Given the description of an element on the screen output the (x, y) to click on. 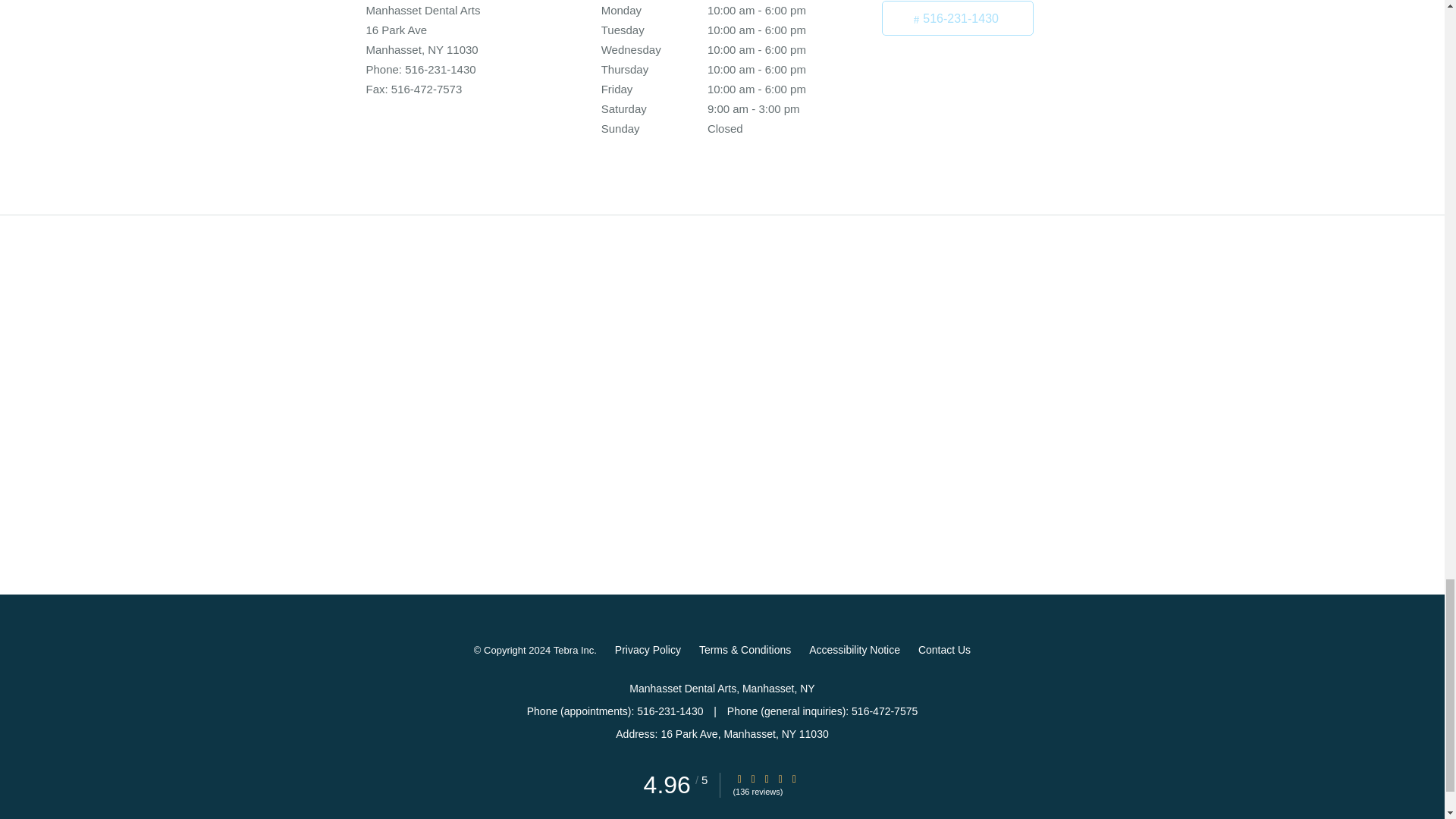
Star Rating (766, 778)
Star Rating (738, 778)
Star Rating (794, 778)
Star Rating (780, 778)
Star Rating (753, 778)
